Given the description of an element on the screen output the (x, y) to click on. 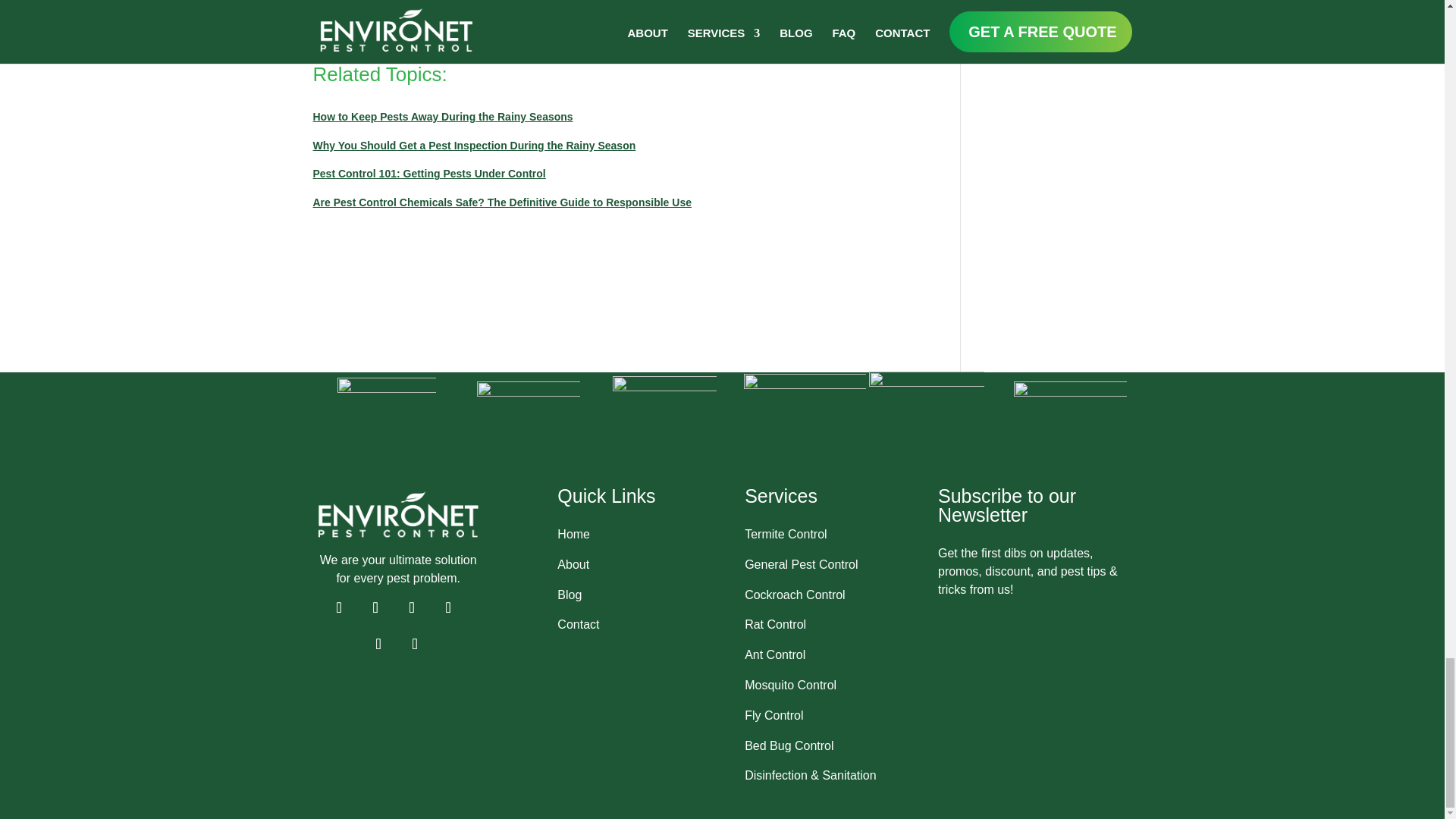
PCAP Logo (664, 427)
Pest Control Association of the Visayas White Logo (805, 434)
Why You Should Get a Pest Inspection During the Rainy Season (473, 145)
NCLPMOAI White Logo (528, 432)
Philippine Green Building Council White Logo (926, 428)
Pest Control 101: Getting Pests Under Control (428, 173)
FAOPMA Logo (1069, 437)
NPMA Logo (385, 426)
Contact Environet Pest Control (391, 37)
